Given the description of an element on the screen output the (x, y) to click on. 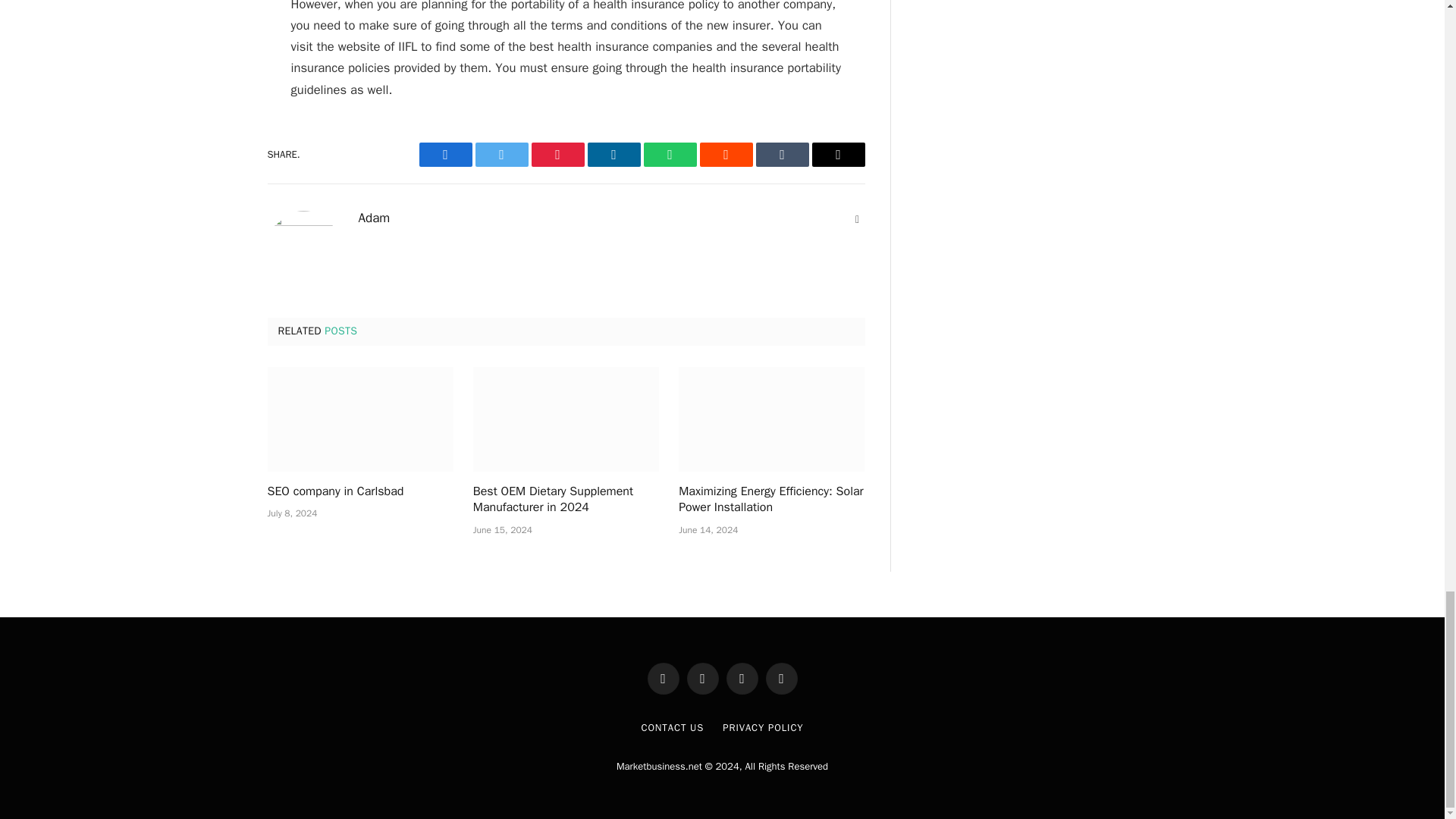
Share on WhatsApp (669, 154)
Share on LinkedIn (613, 154)
Share on Pinterest (557, 154)
Share on Facebook (445, 154)
Twitter (500, 154)
Pinterest (557, 154)
Facebook (445, 154)
